Given the description of an element on the screen output the (x, y) to click on. 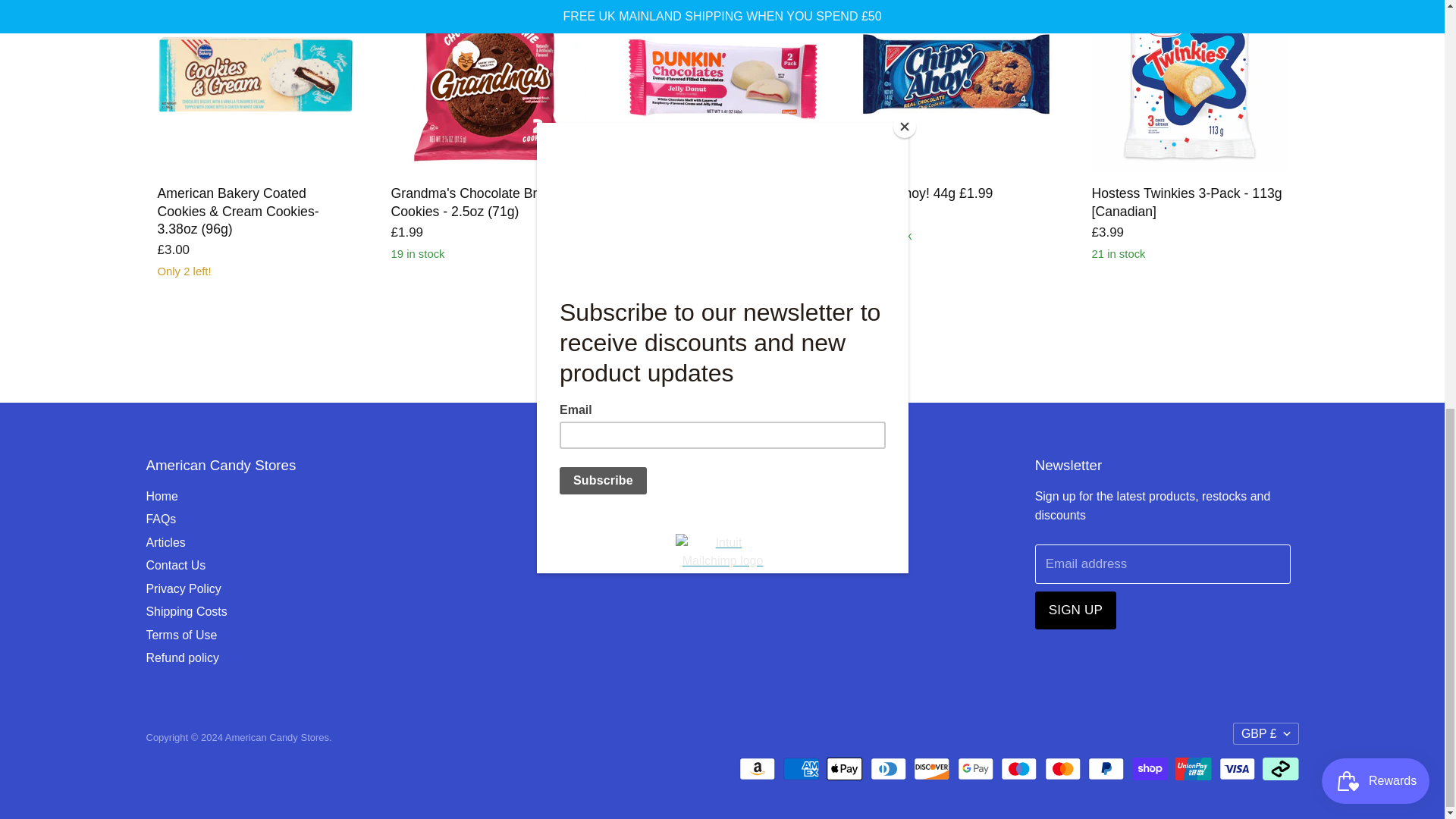
E-mail (655, 497)
Facebook (601, 497)
Instagram (628, 497)
